Given the description of an element on the screen output the (x, y) to click on. 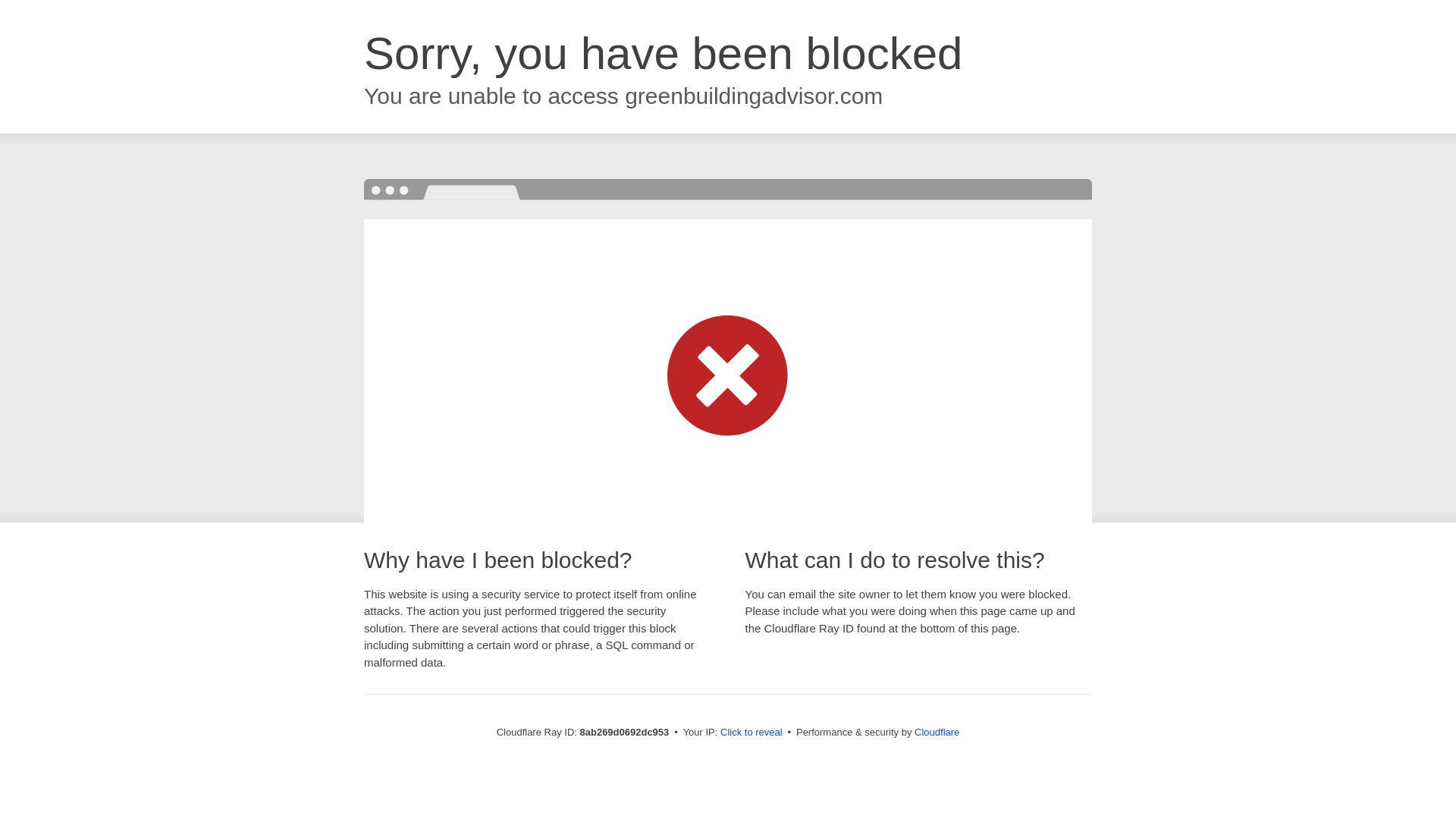
Cloudflare (936, 731)
Click to reveal (751, 732)
